Given the description of an element on the screen output the (x, y) to click on. 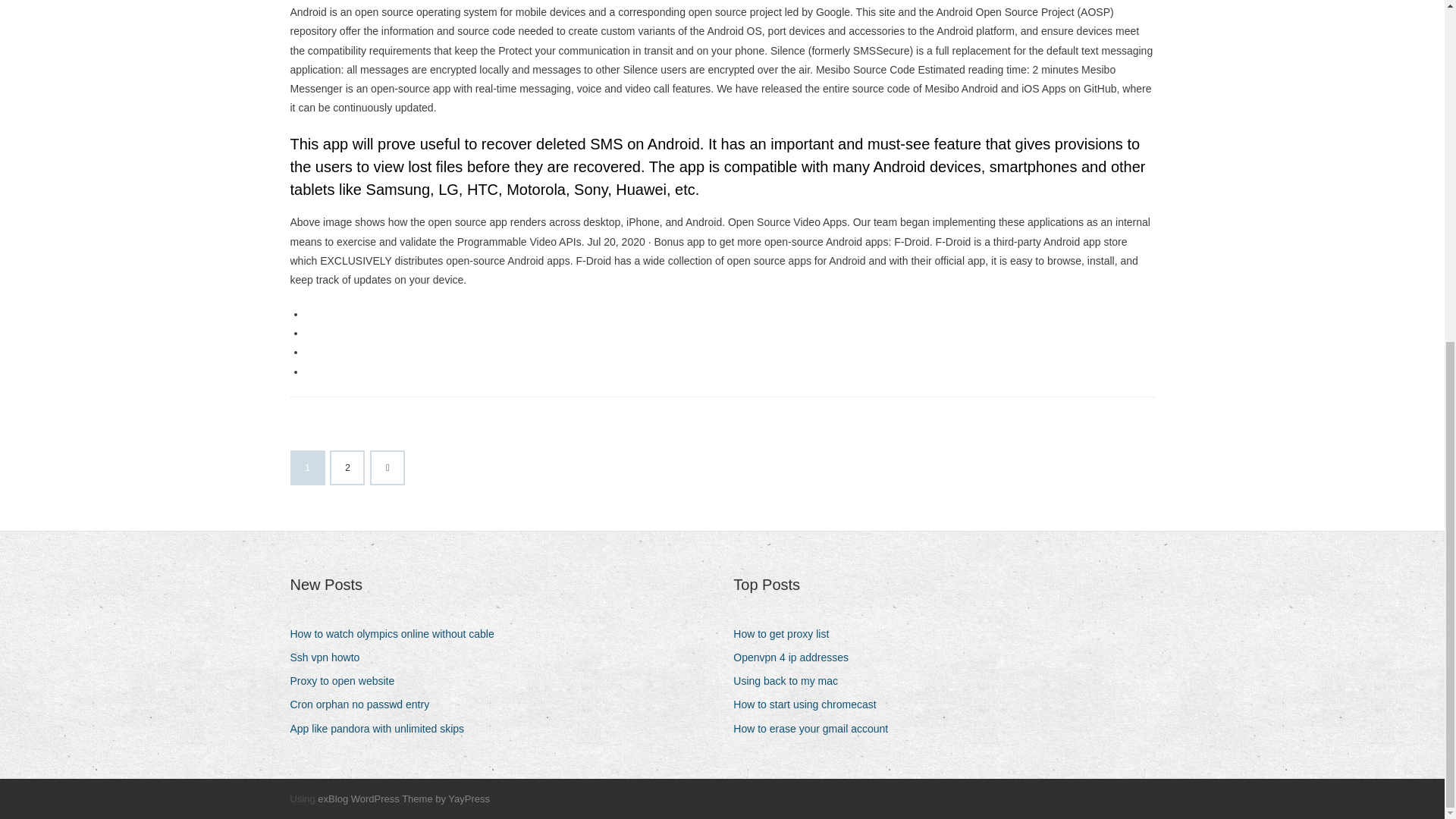
Ssh vpn howto (330, 657)
Cron orphan no passwd entry (365, 704)
Proxy to open website (347, 680)
Using back to my mac (790, 680)
How to start using chromecast (809, 704)
2 (346, 468)
How to erase your gmail account (816, 729)
App like pandora with unlimited skips (382, 729)
How to get proxy list (786, 634)
Openvpn 4 ip addresses (796, 657)
How to watch olympics online without cable (397, 634)
exBlog WordPress Theme by YayPress (403, 798)
